Given the description of an element on the screen output the (x, y) to click on. 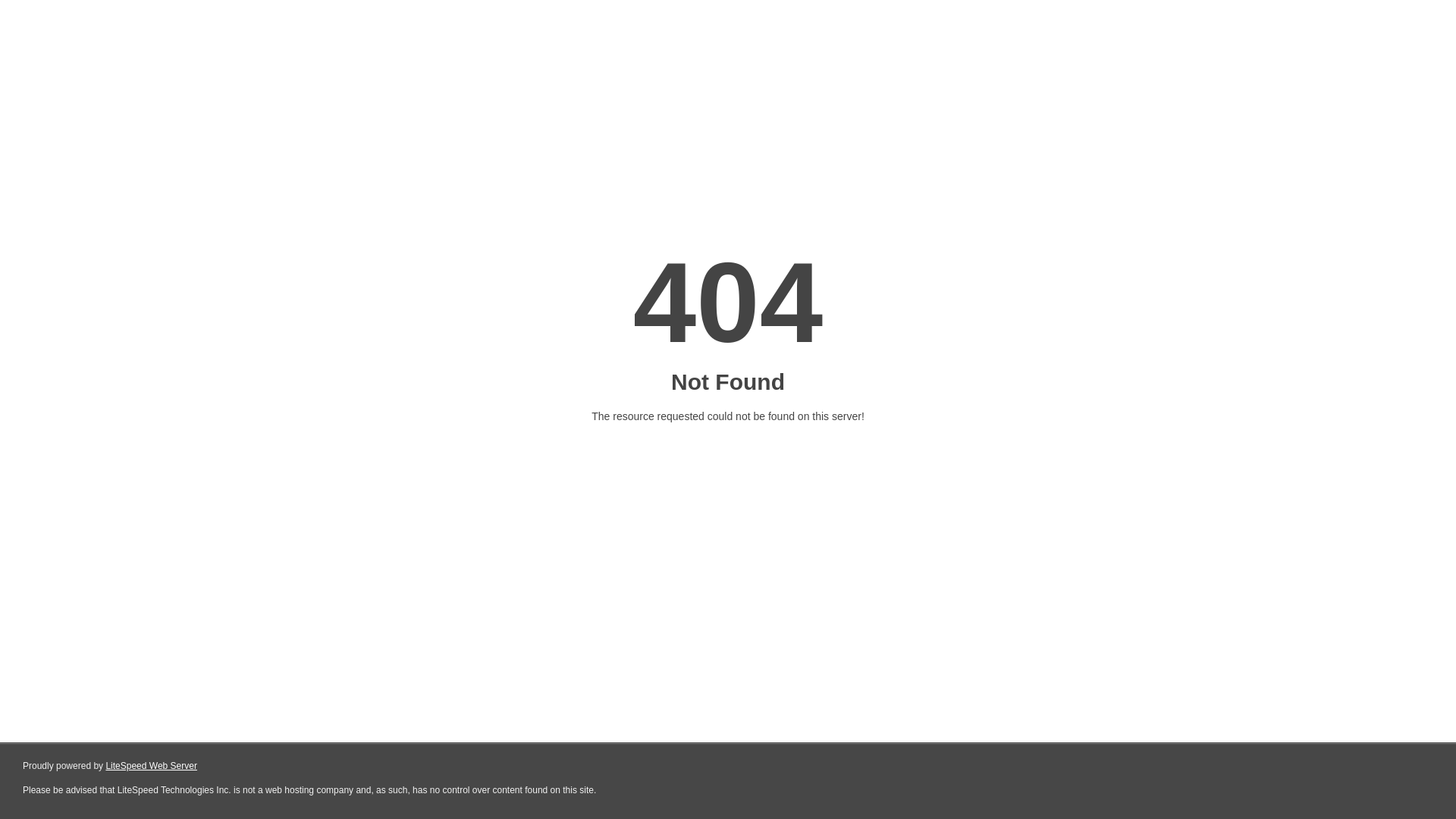
LiteSpeed Web Server Element type: text (151, 765)
